Given the description of an element on the screen output the (x, y) to click on. 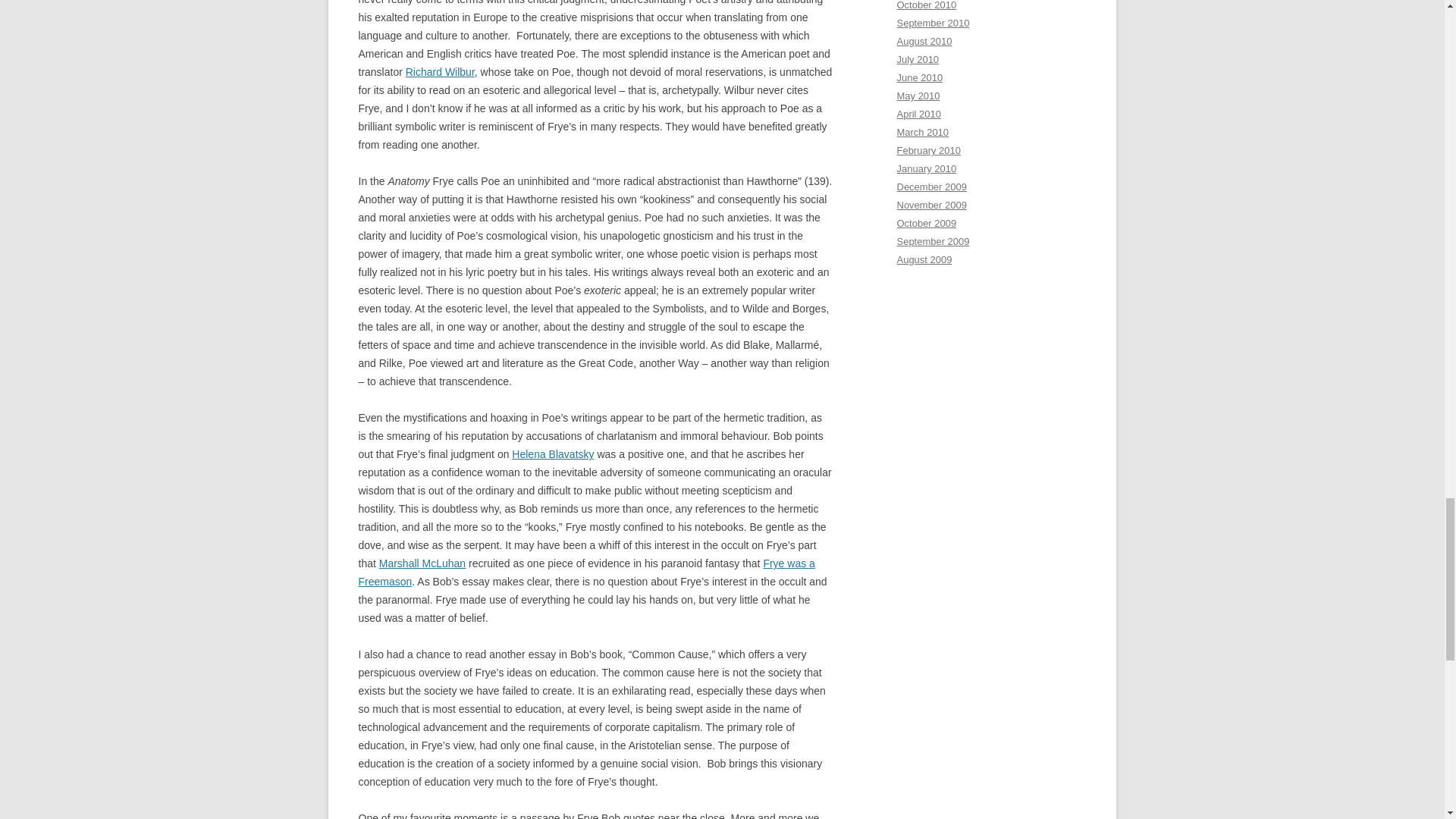
Richard Wilbur (440, 71)
Helena Blavatsky (553, 453)
Marshall McLuhan (421, 563)
Frye was a Freemason (585, 572)
